Given the description of an element on the screen output the (x, y) to click on. 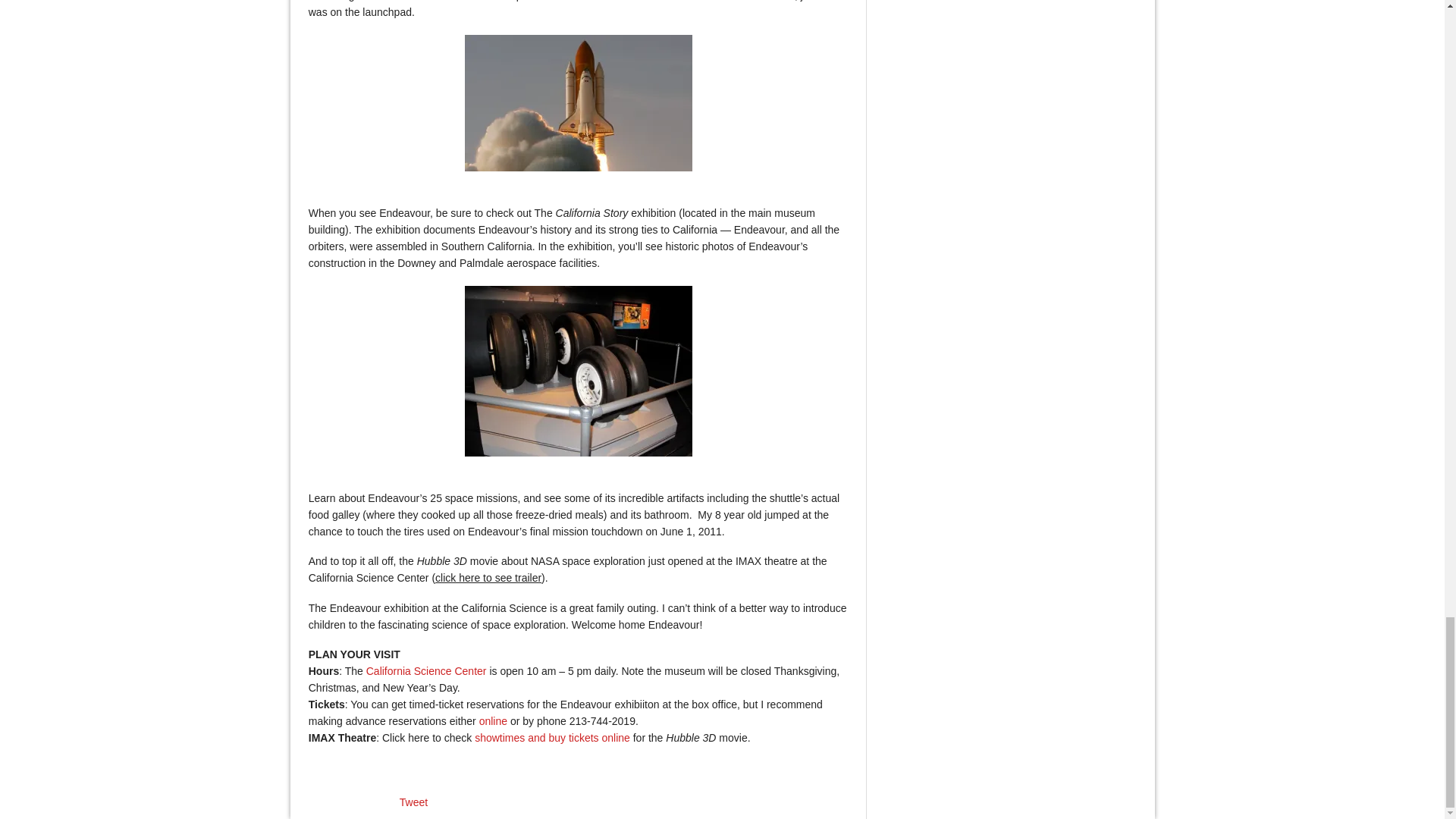
online (492, 720)
click here to see trailer (488, 577)
California Science Center (426, 671)
Space shuttle Endeavour (577, 103)
Tweet (413, 802)
showtimes and buy tickets online (552, 737)
Endeavour Tires, photos by MuseumStories.com (577, 370)
